Given the description of an element on the screen output the (x, y) to click on. 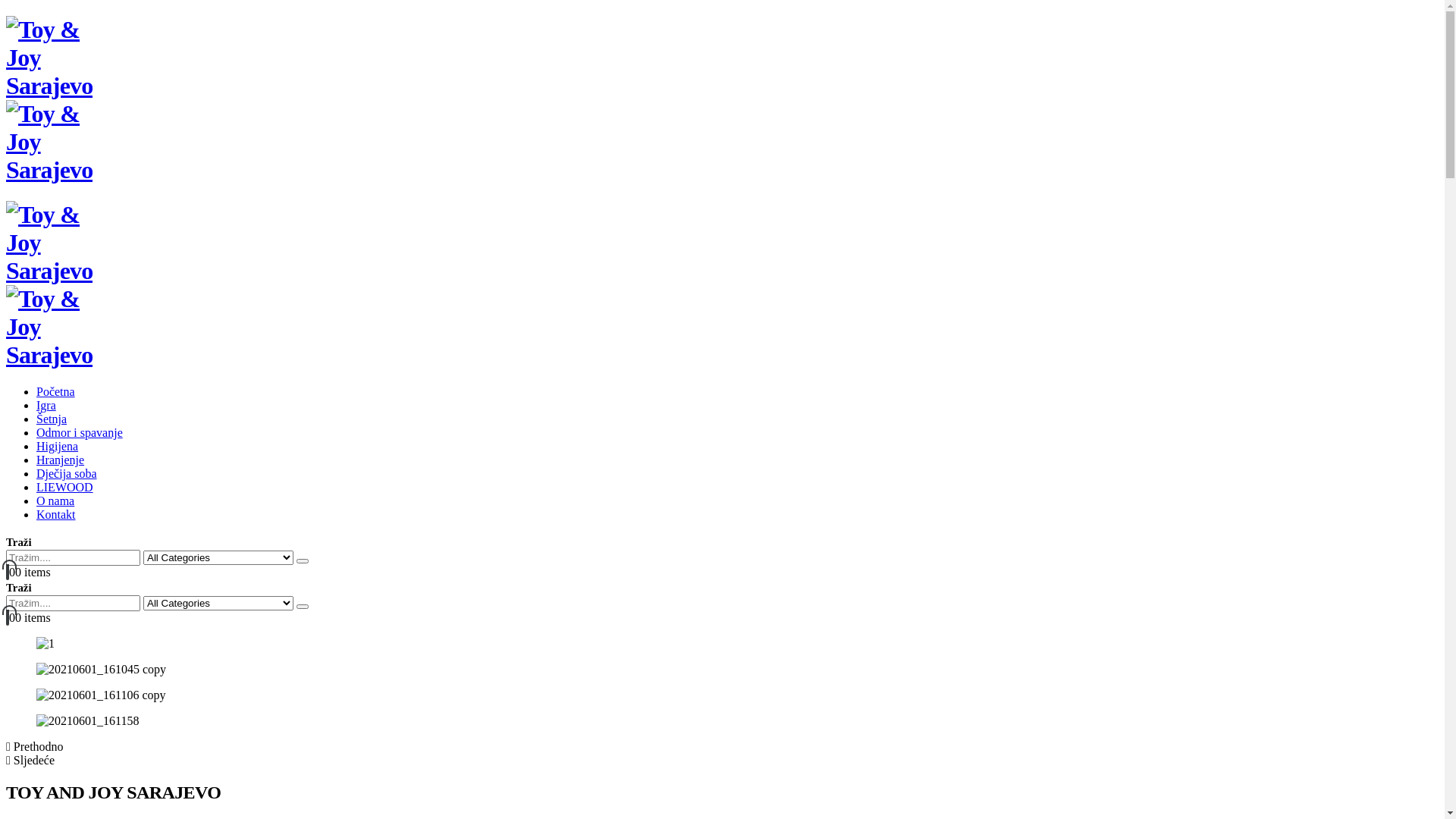
Igra Element type: text (46, 404)
Hranjenje Element type: text (60, 459)
LIEWOOD Element type: text (64, 486)
Toy & Joy Sarajevo - Baby concept store Element type: hover (49, 127)
Toy & Joy Sarajevo - Baby concept store Element type: hover (49, 312)
Higijena Element type: text (57, 445)
Kontakt Element type: text (55, 514)
O nama Element type: text (55, 500)
Odmor i spavanje Element type: text (79, 432)
